Given the description of an element on the screen output the (x, y) to click on. 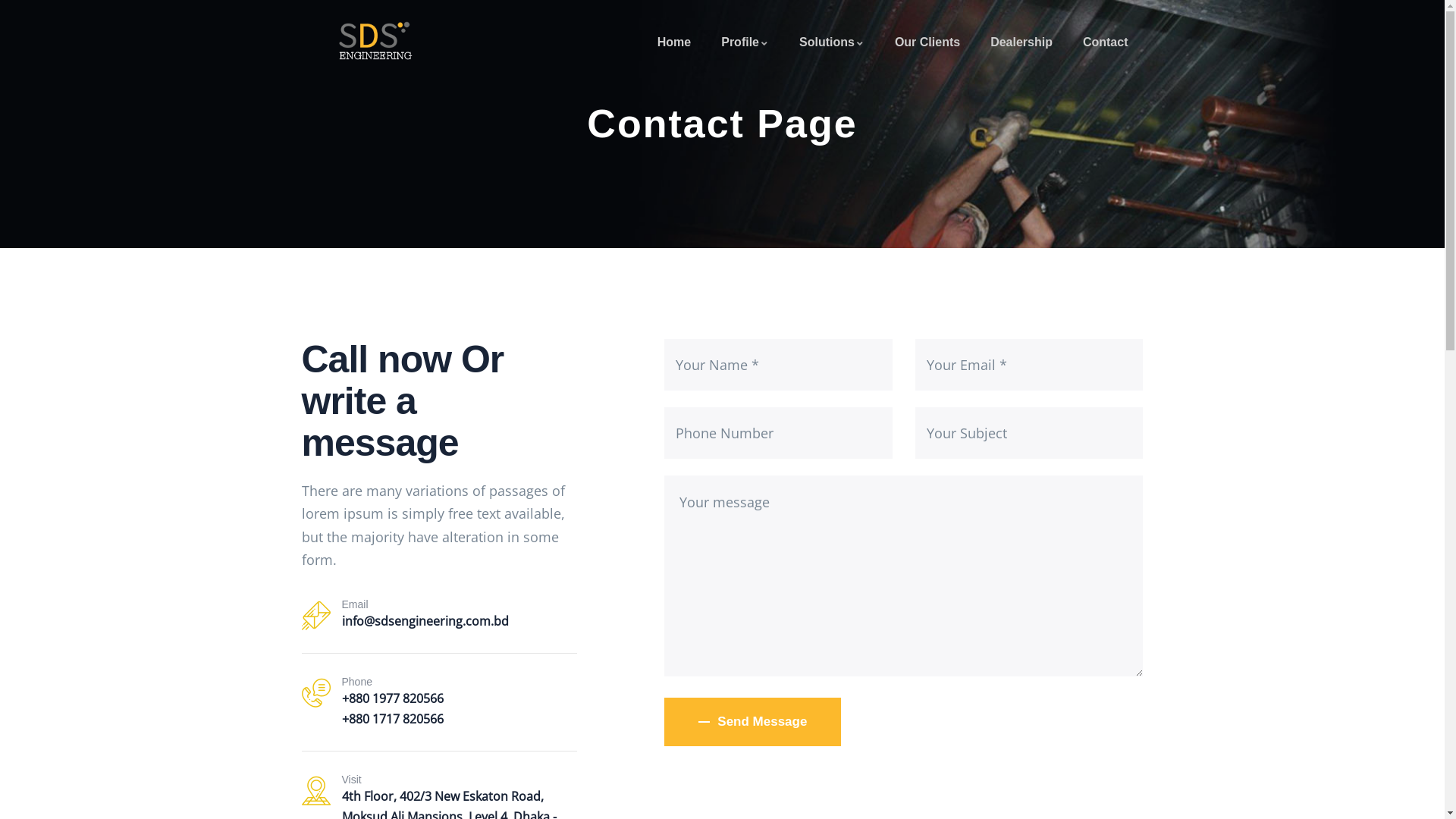
Send Message Element type: text (761, 721)
Dealership Element type: text (1021, 42)
info@sdsengineering.com.bd Element type: text (424, 620)
Our Clients Element type: text (927, 42)
Profile Element type: text (745, 42)
Home Element type: hover (376, 42)
+880 1977 820566
+880 1717 820566 Element type: text (391, 708)
Home Element type: text (674, 42)
Solutions Element type: text (831, 42)
Contact Element type: text (1105, 42)
